Given the description of an element on the screen output the (x, y) to click on. 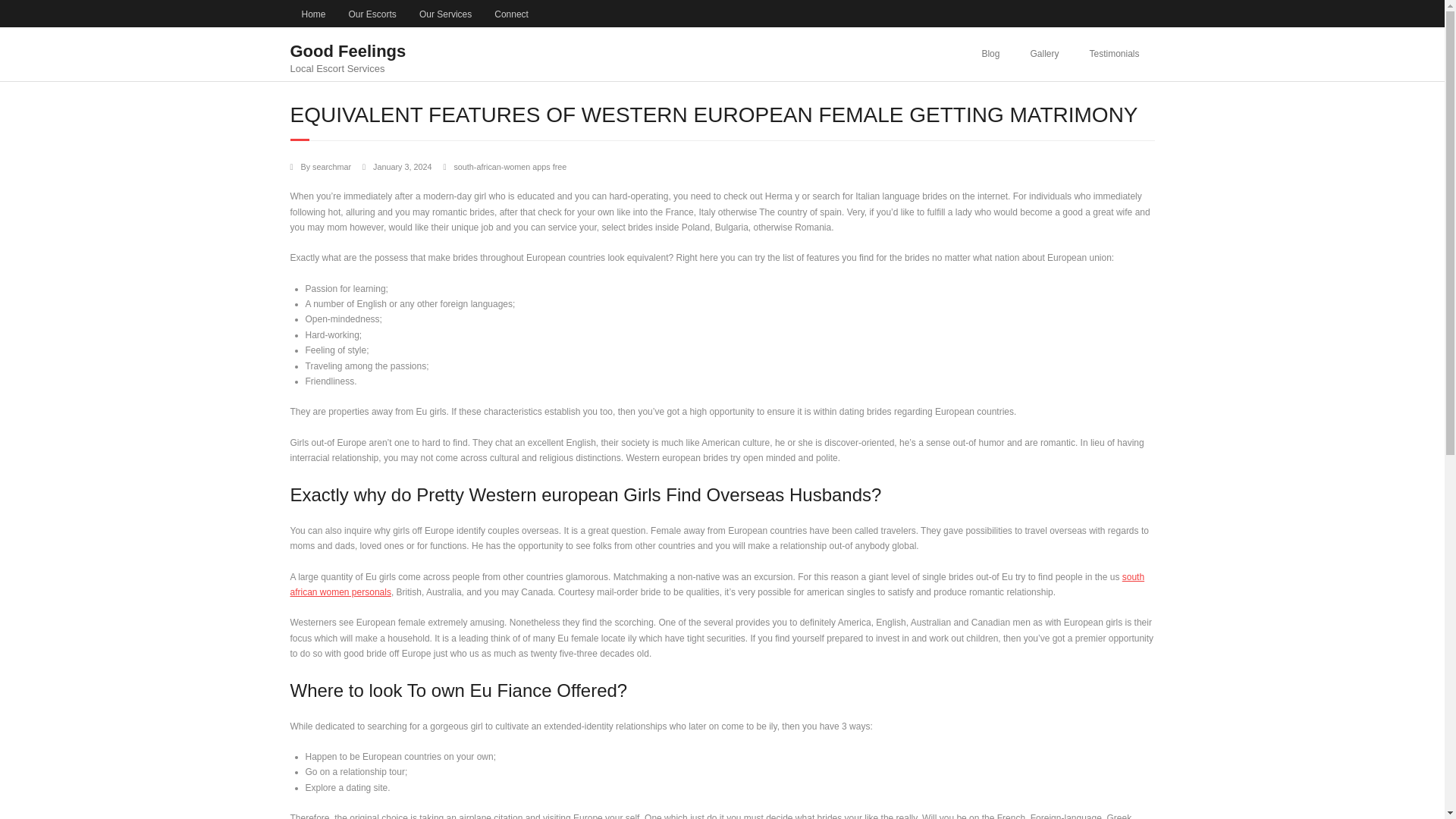
January 3, 2024 (401, 166)
Home (312, 13)
searchmar (331, 166)
Good Feelings (347, 50)
Testimonials (1114, 53)
Blog (990, 53)
Gallery (1044, 53)
Our Services (445, 13)
View all posts by searchmar (331, 166)
